Given the description of an element on the screen output the (x, y) to click on. 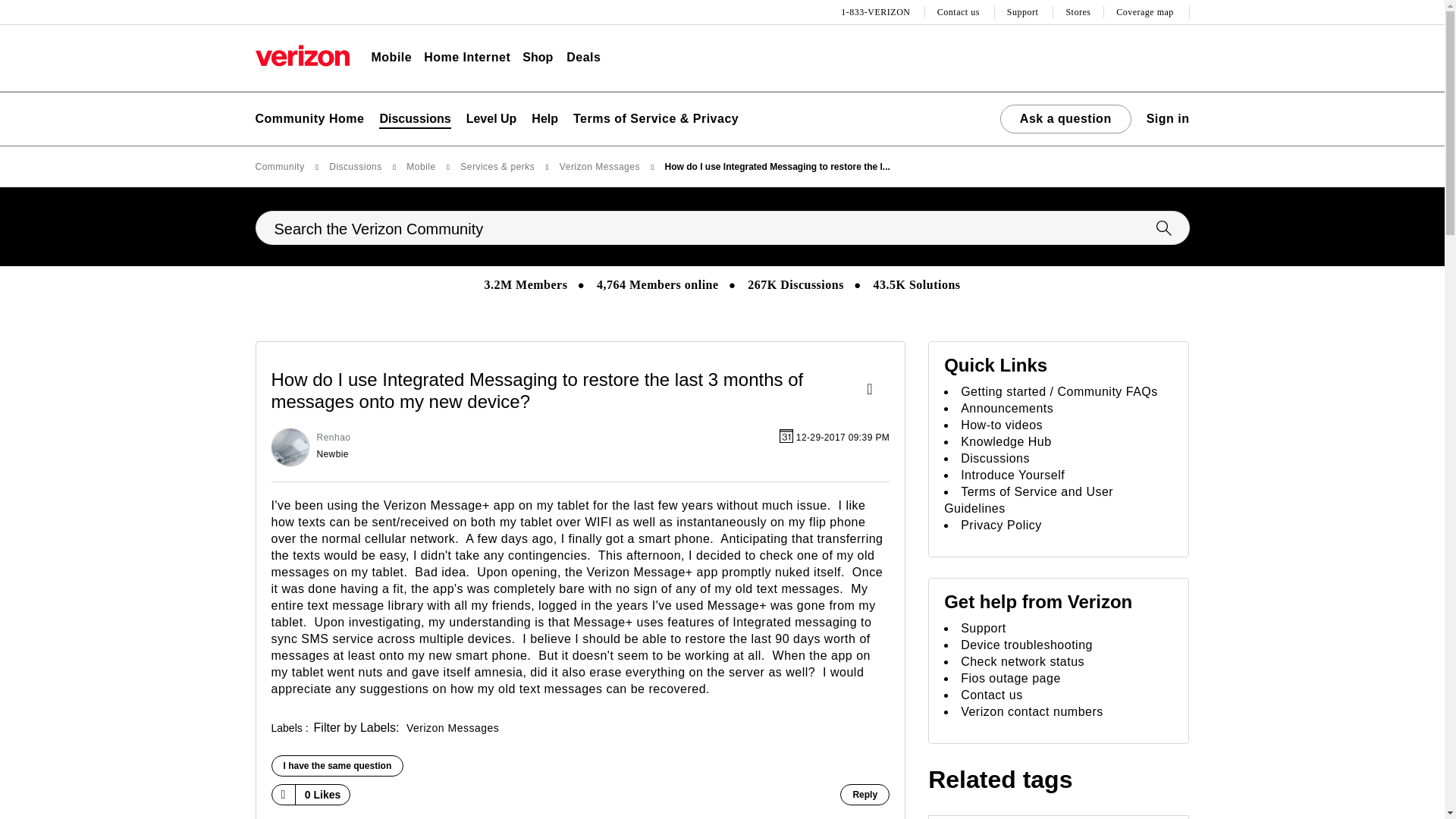
Contact us (959, 12)
The total number of likes this post has received. (322, 794)
Click here to give likes to this post. (282, 794)
1-833-VERIZON (876, 12)
Shop (537, 57)
Verizon Home Page (301, 55)
Posted on (668, 447)
Show option menu (874, 390)
Support (1024, 12)
Click here if you had a similar experience (337, 765)
Stores (1078, 12)
Coverage map (1146, 12)
Mobile (391, 57)
Search (721, 227)
Renhao (289, 447)
